Given the description of an element on the screen output the (x, y) to click on. 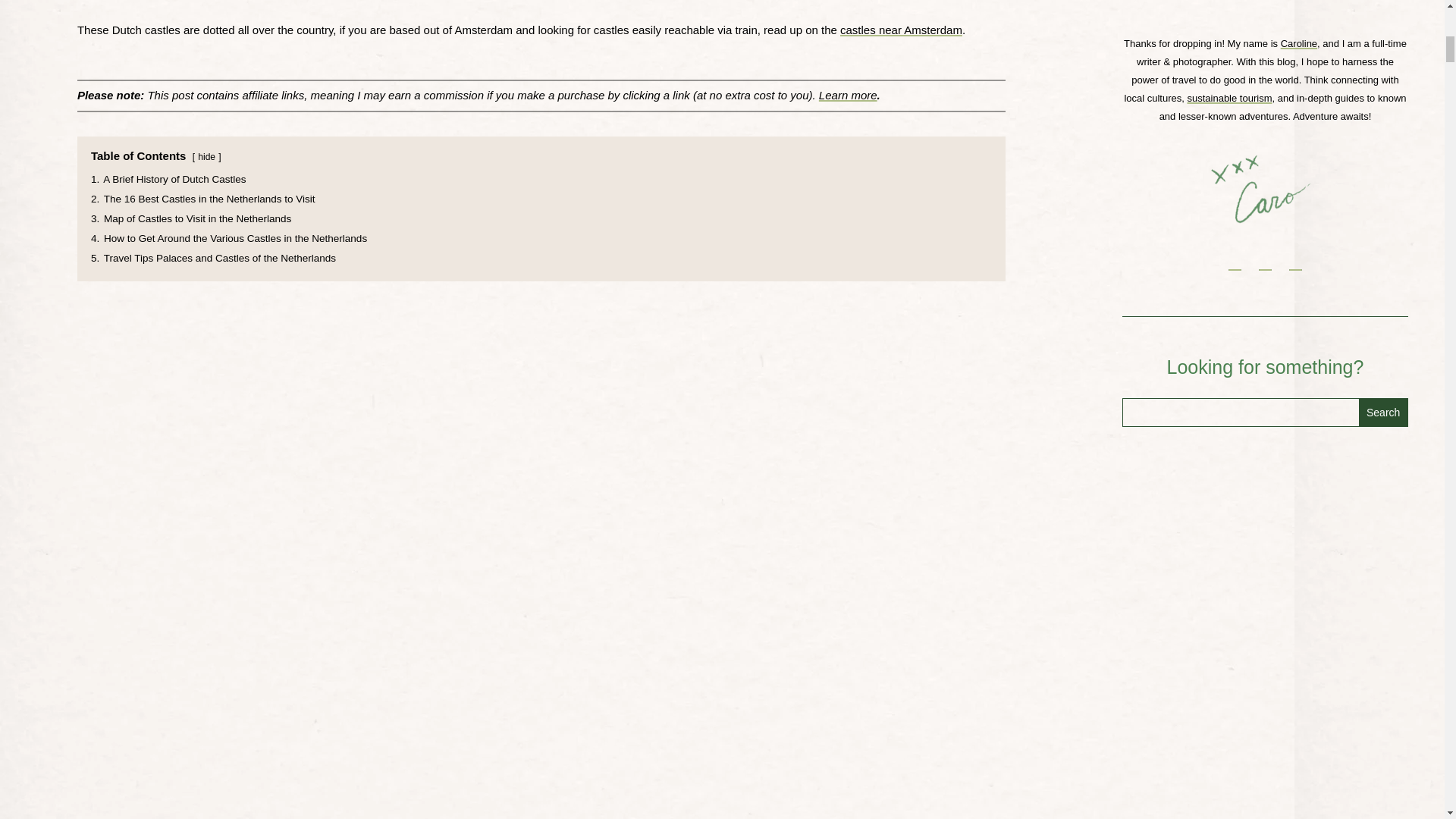
Search (1382, 411)
Search (1382, 411)
